Given the description of an element on the screen output the (x, y) to click on. 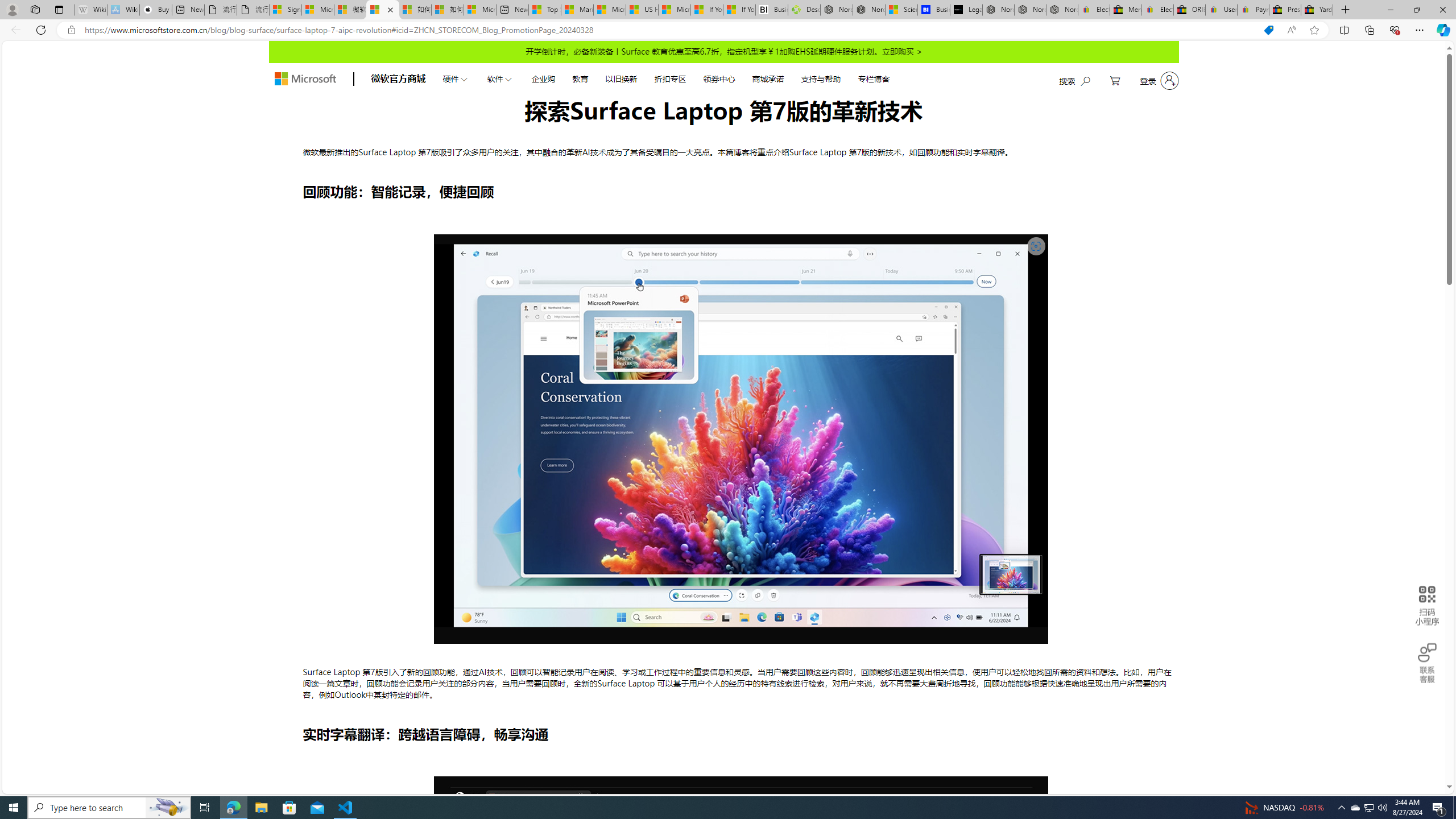
Payments Terms of Use | eBay.com (1252, 9)
